Given the description of an element on the screen output the (x, y) to click on. 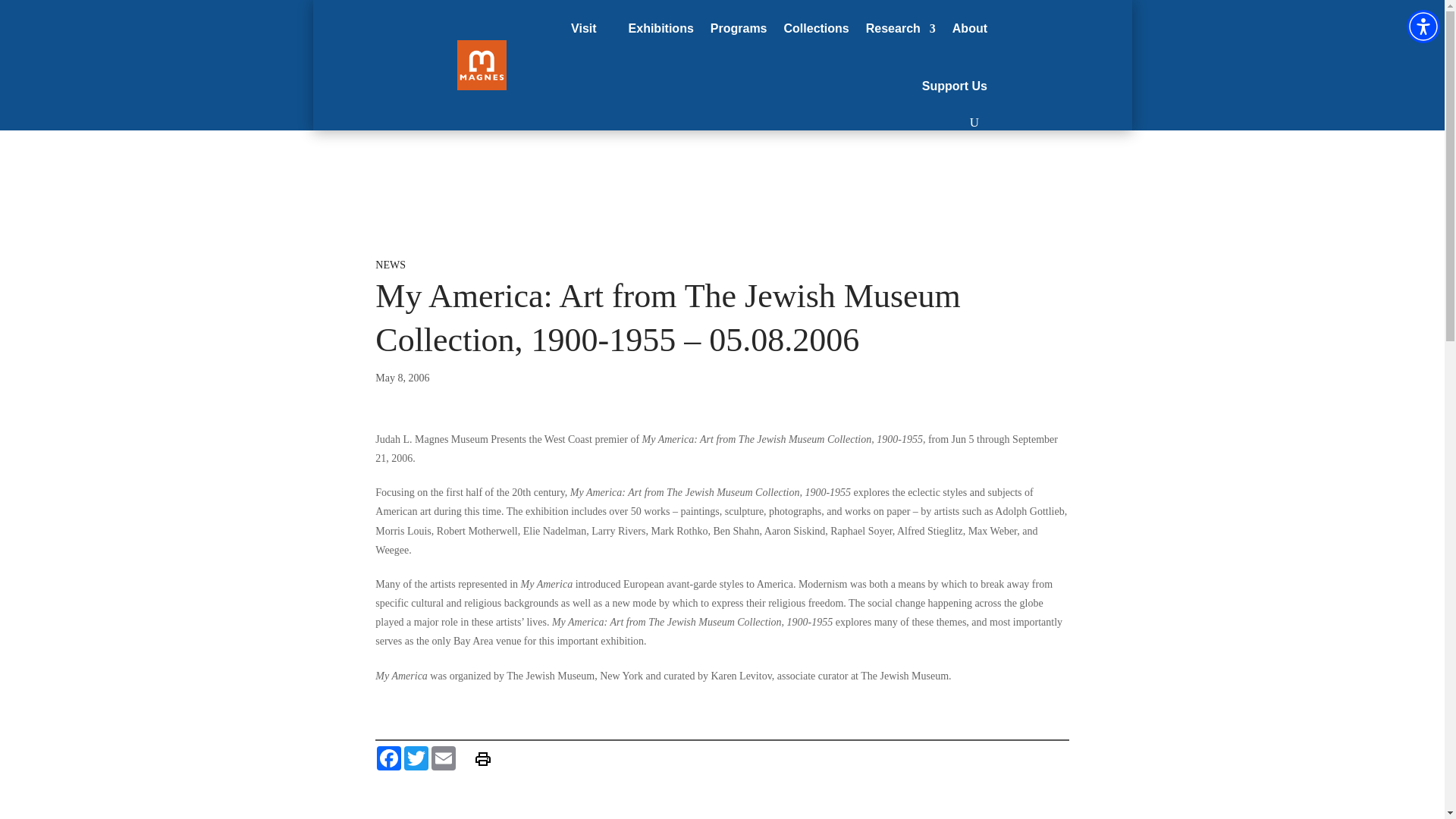
Visit (583, 28)
Twitter (416, 758)
Email (443, 758)
Programs (738, 28)
Collections (816, 28)
Research (901, 28)
Exhibitions (661, 28)
Accessibility Menu (1422, 26)
Facebook (389, 758)
Support Us (954, 86)
